Given the description of an element on the screen output the (x, y) to click on. 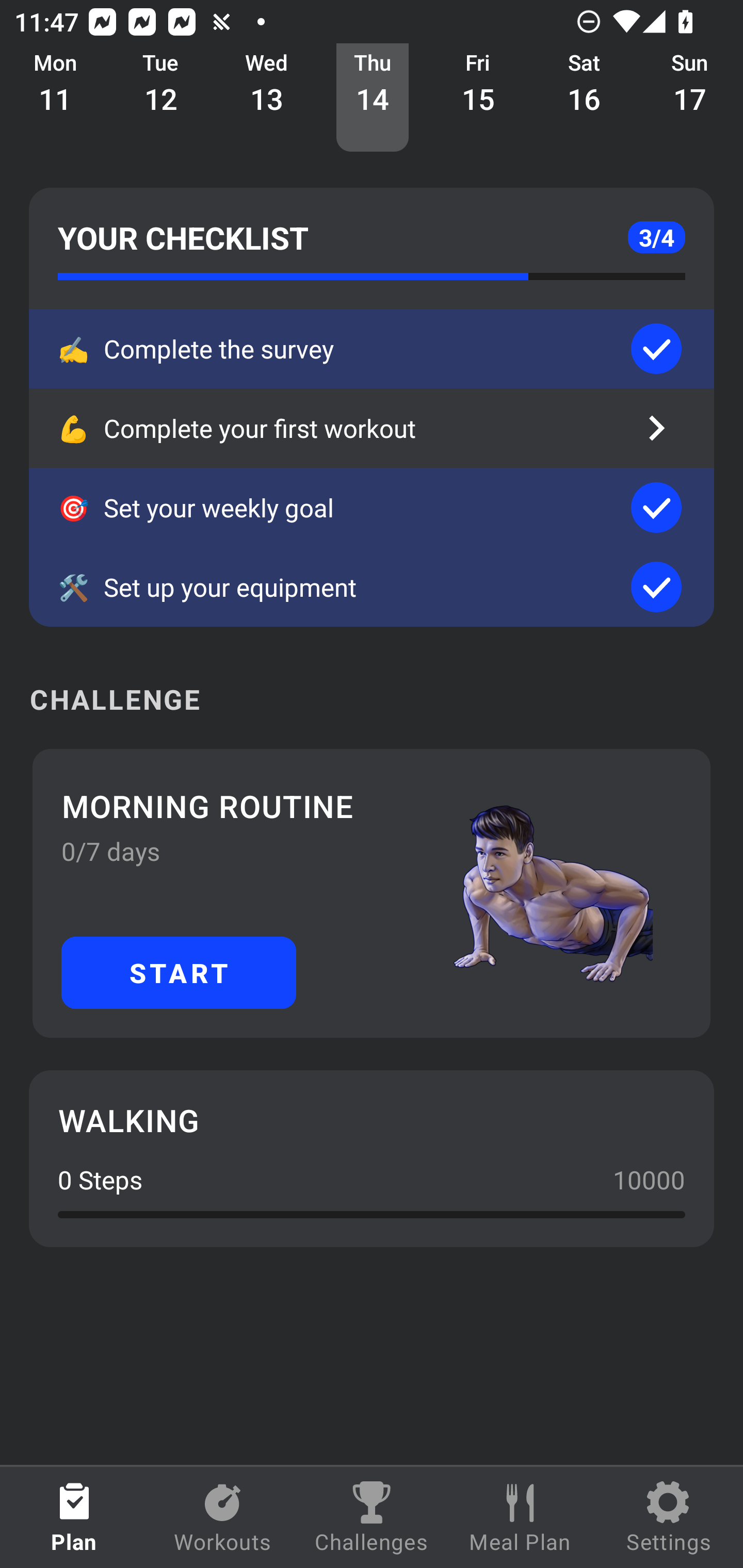
Mon 11 (55, 97)
Tue 12 (160, 97)
Wed 13 (266, 97)
Thu 14 (372, 97)
Fri 15 (478, 97)
Sat 16 (584, 97)
Sun 17 (690, 97)
💪 Complete your first workout (371, 427)
MORNING ROUTINE 0/7 days START (371, 892)
START (178, 972)
WALKING 0 Steps 10000 0.0 (371, 1158)
 Workouts  (222, 1517)
 Challenges  (371, 1517)
 Meal Plan  (519, 1517)
 Settings  (668, 1517)
